Given the description of an element on the screen output the (x, y) to click on. 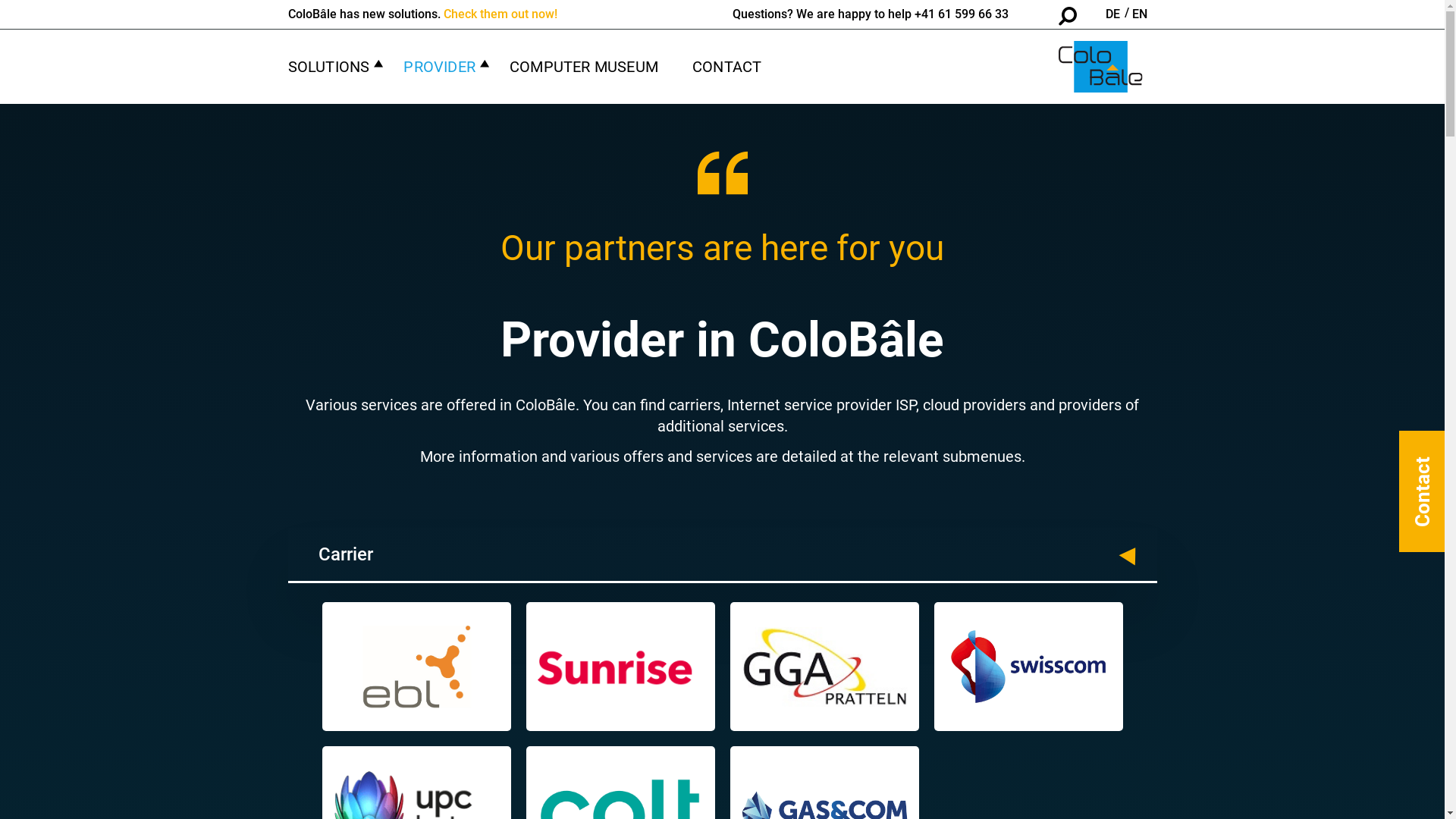
PROVIDER Element type: text (439, 66)
EN Element type: text (1138, 13)
COMPUTER MUSEUM Element type: text (583, 66)
Check them out now! Element type: text (499, 13)
DE Element type: text (1112, 13)
SOLUTIONS Element type: text (329, 66)
Contact Element type: text (1421, 491)
+41 61 599 66 33 Element type: text (961, 13)
CONTACT Element type: text (726, 66)
